Given the description of an element on the screen output the (x, y) to click on. 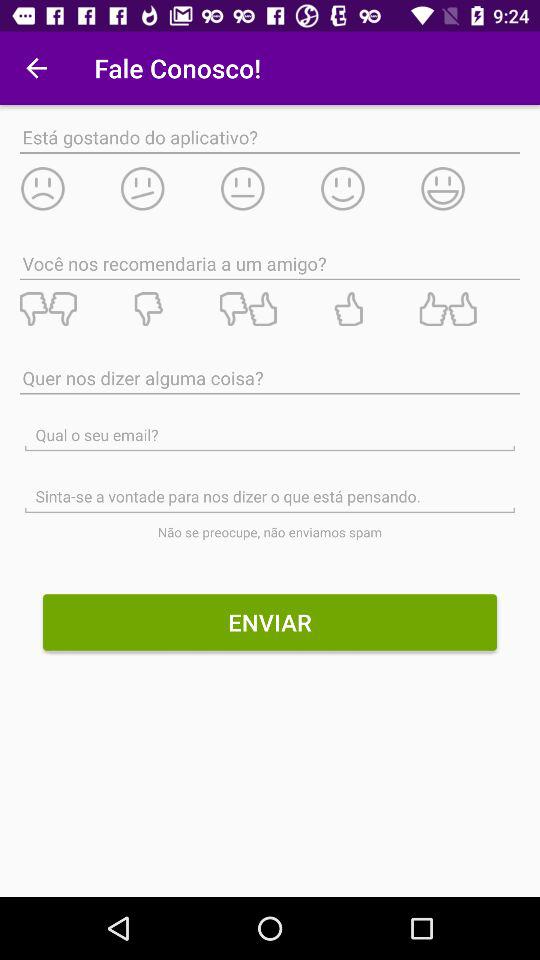
two thumbs up (469, 309)
